Given the description of an element on the screen output the (x, y) to click on. 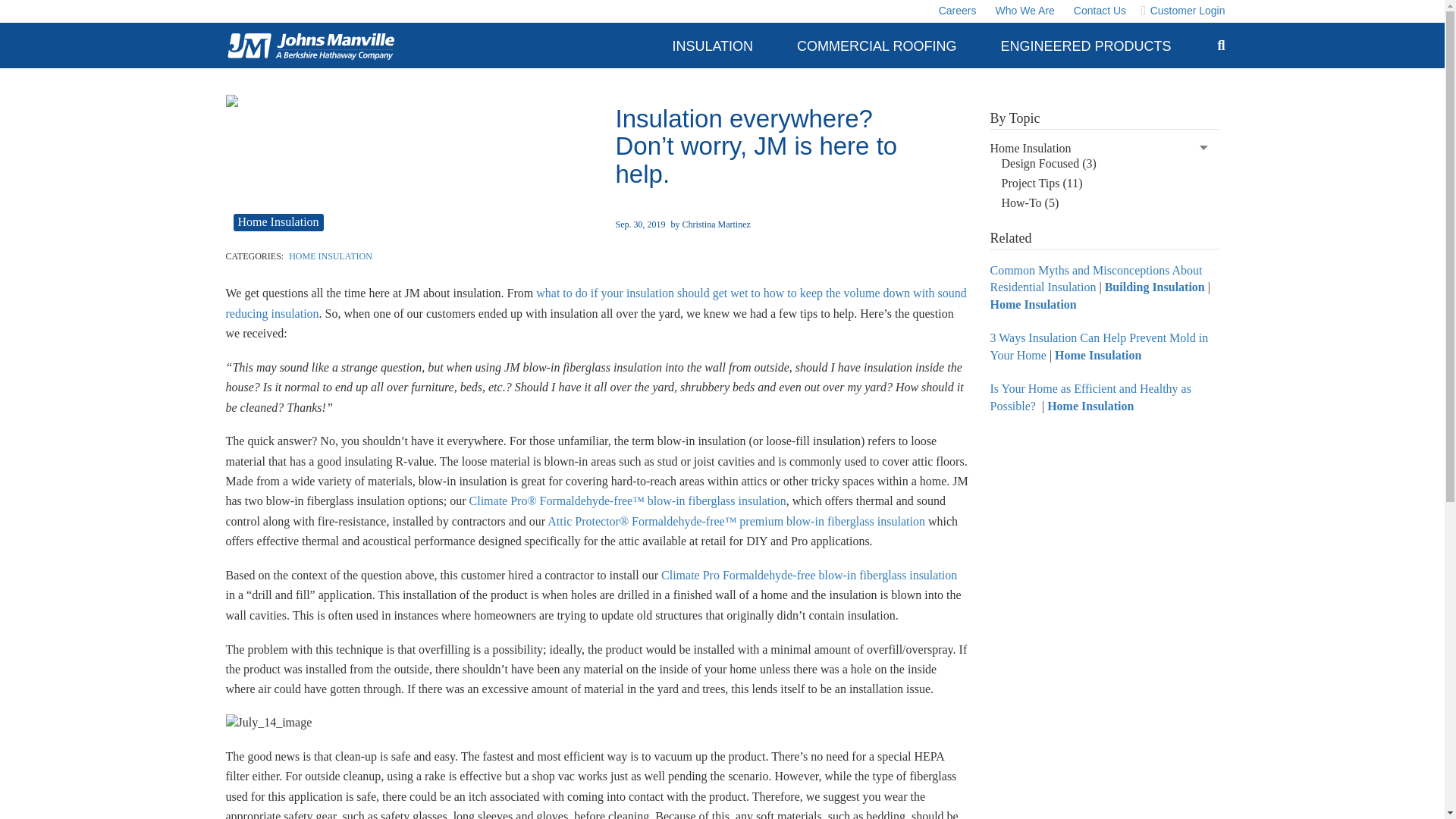
Careers (955, 10)
Johns Manville (310, 45)
Customer Login (1182, 10)
Who We Are (1022, 10)
Contact Us (1097, 10)
